Given the description of an element on the screen output the (x, y) to click on. 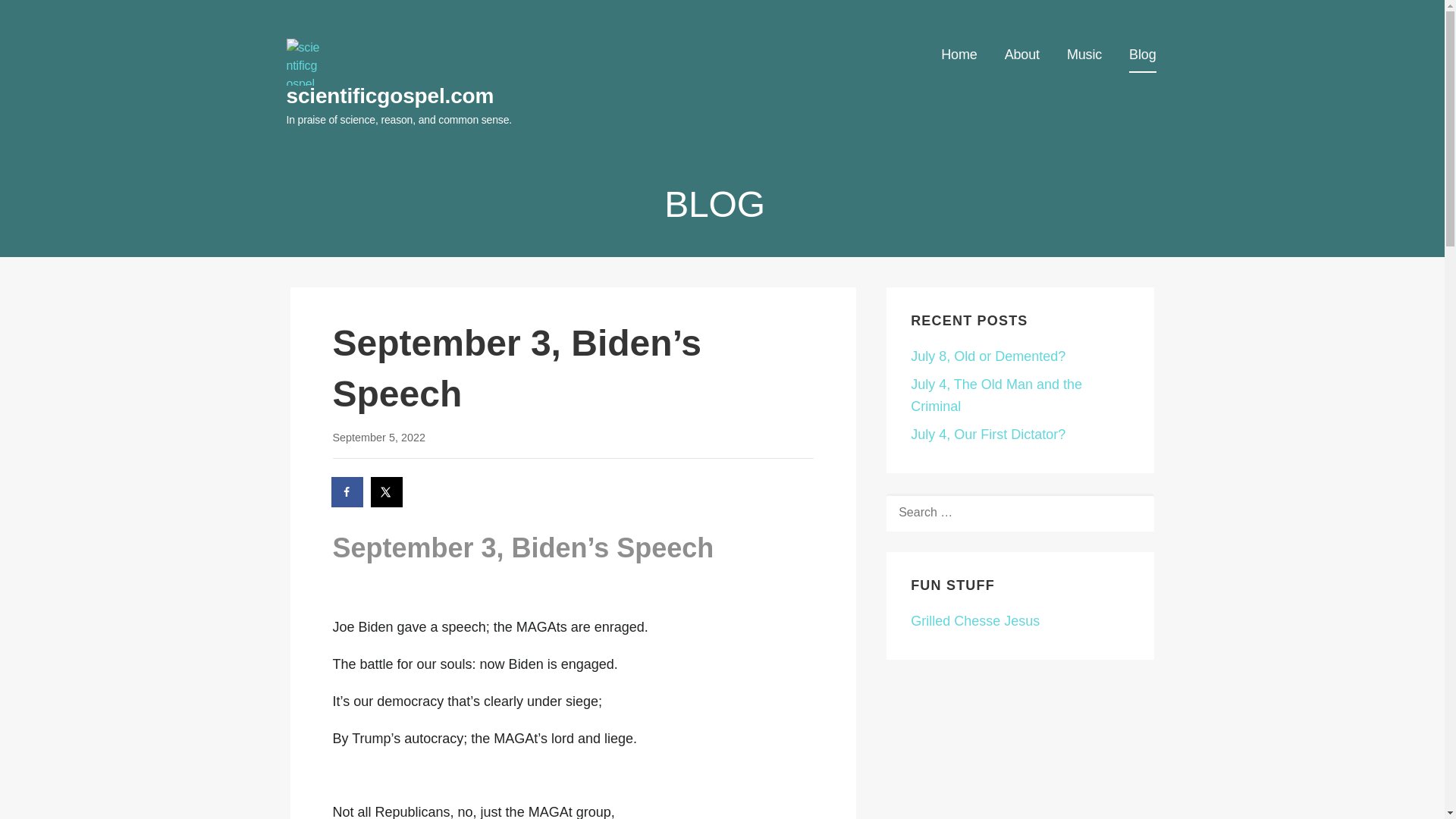
Share on Facebook (346, 491)
Grilled Chesse Jesus (975, 620)
July 4, Our First Dictator? (988, 434)
Music (1084, 55)
July 8, Old or Demented? (988, 355)
Where will those spunky deities show up next? (975, 620)
Home (958, 55)
July 4, The Old Man and the Criminal (996, 395)
About (1021, 55)
scientificgospel.com (390, 95)
Share on X (387, 491)
Search (47, 17)
